Given the description of an element on the screen output the (x, y) to click on. 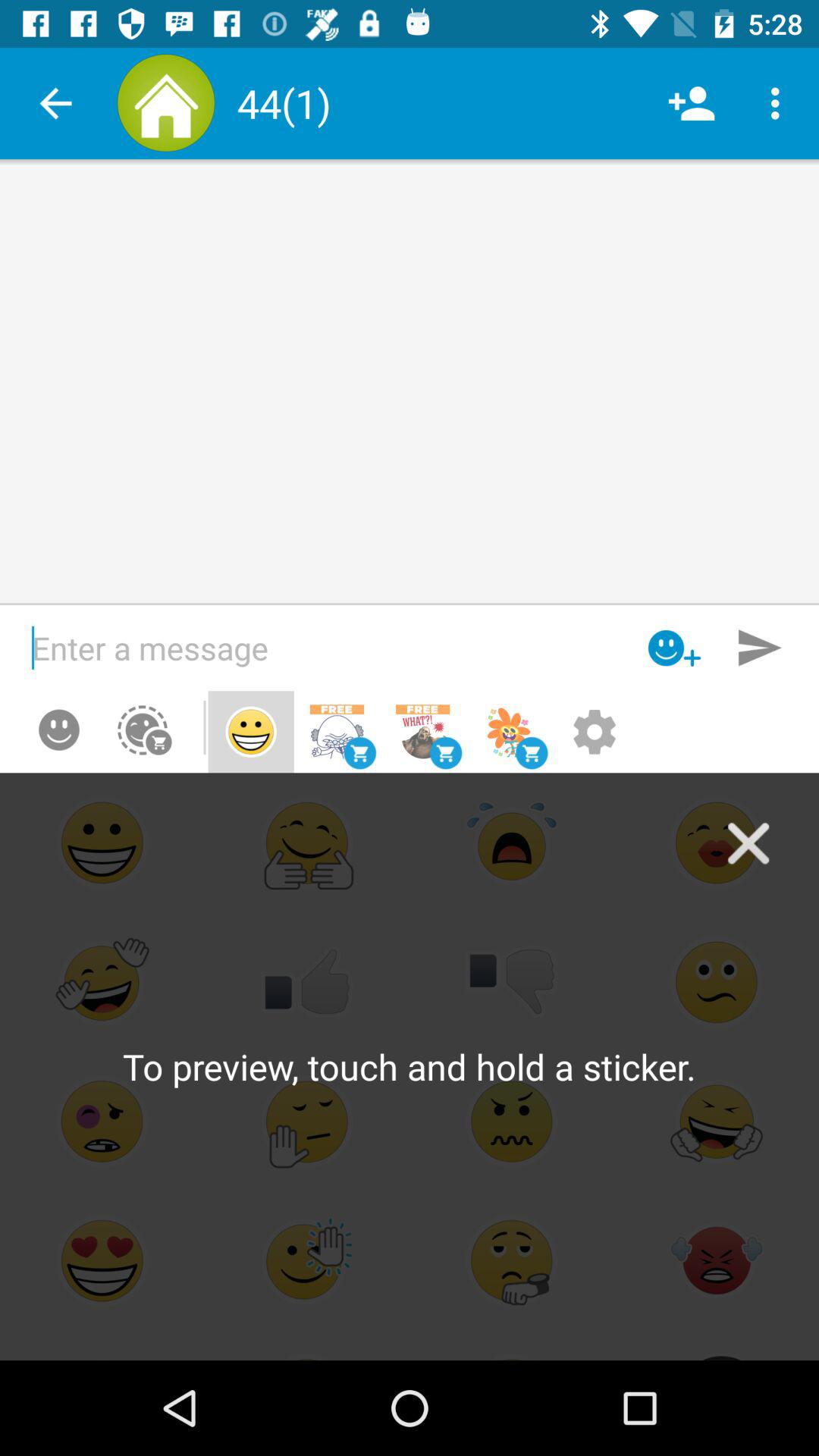
launch the item to the right of (1) icon (691, 103)
